Given the description of an element on the screen output the (x, y) to click on. 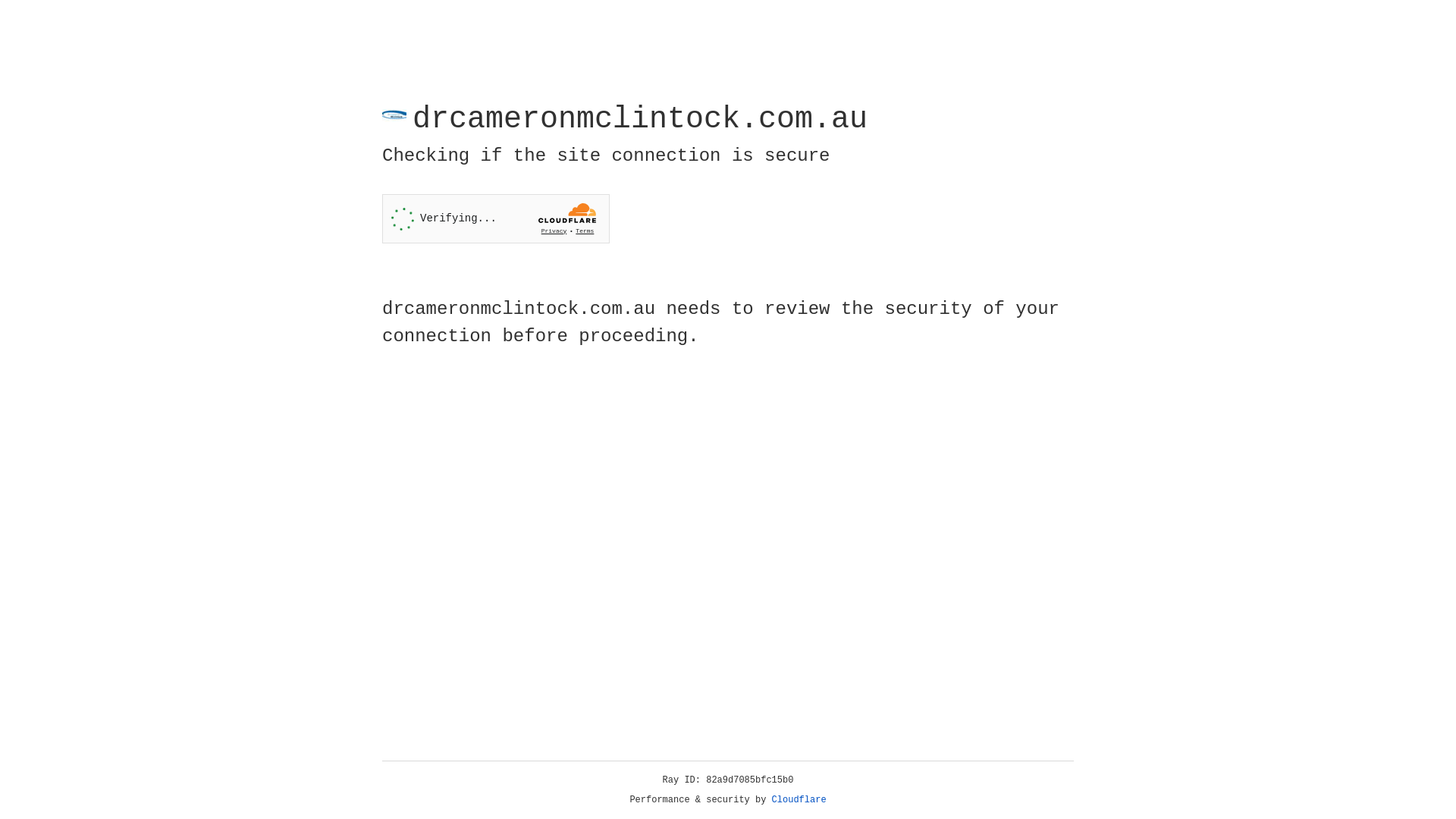
Cloudflare Element type: text (798, 799)
Widget containing a Cloudflare security challenge Element type: hover (495, 218)
